Given the description of an element on the screen output the (x, y) to click on. 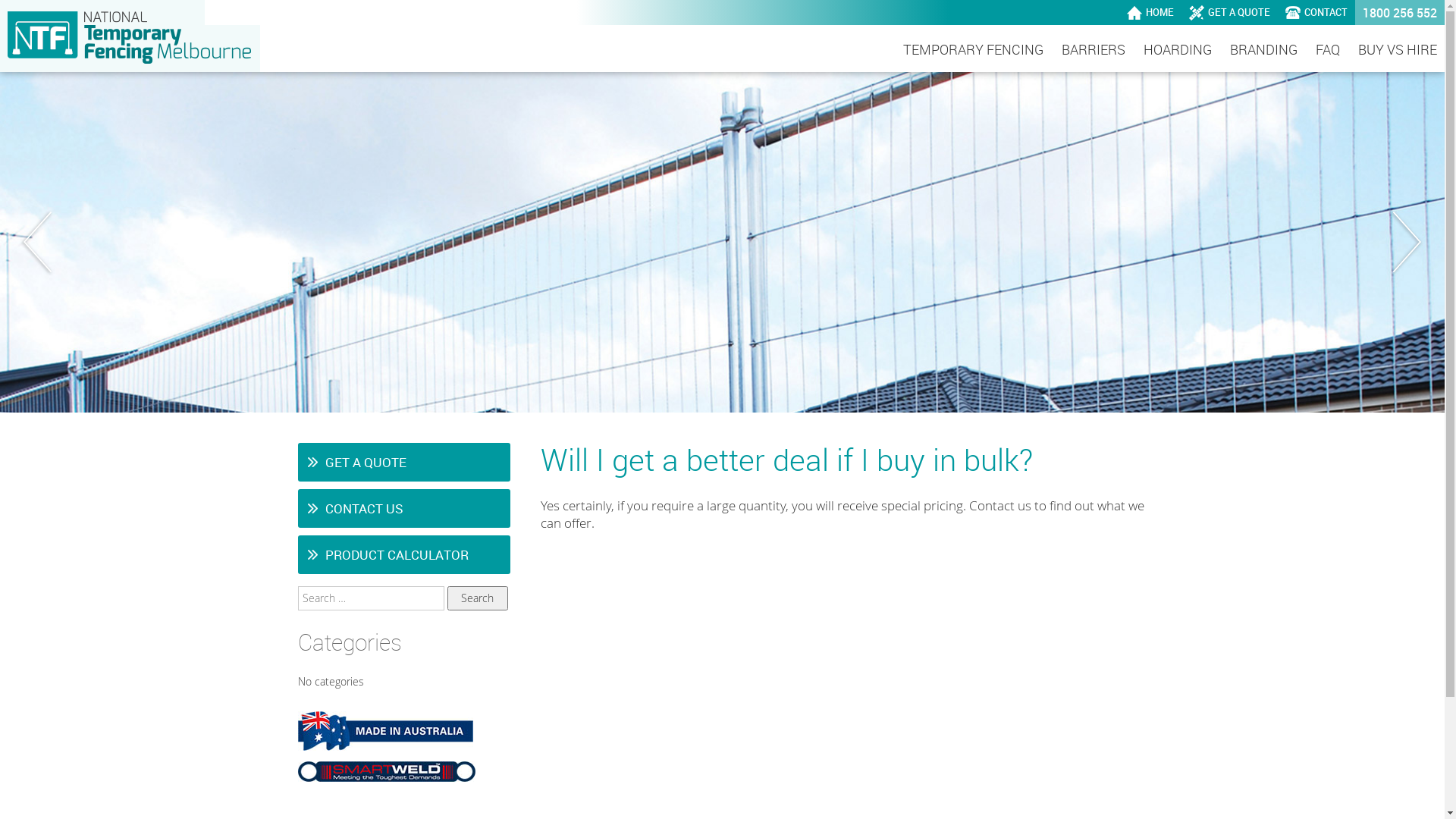
HOME Element type: text (1150, 12)
Search Element type: text (477, 598)
1800 256 552 Element type: text (1399, 12)
TEMPORARY FENCING Element type: text (973, 50)
Next Slide Element type: text (1406, 241)
GET A QUOTE Element type: text (1229, 12)
CONTACT US Element type: text (403, 508)
HOARDING Element type: text (1177, 50)
PRODUCT CALCULATOR Element type: text (403, 554)
BRANDING Element type: text (1263, 50)
BARRIERS Element type: text (1093, 50)
CONTACT Element type: text (1316, 12)
Previous Slide Element type: text (37, 241)
GET A QUOTE Element type: text (403, 461)
BUY VS HIRE Element type: text (1397, 50)
FAQ Element type: text (1327, 50)
